Given the description of an element on the screen output the (x, y) to click on. 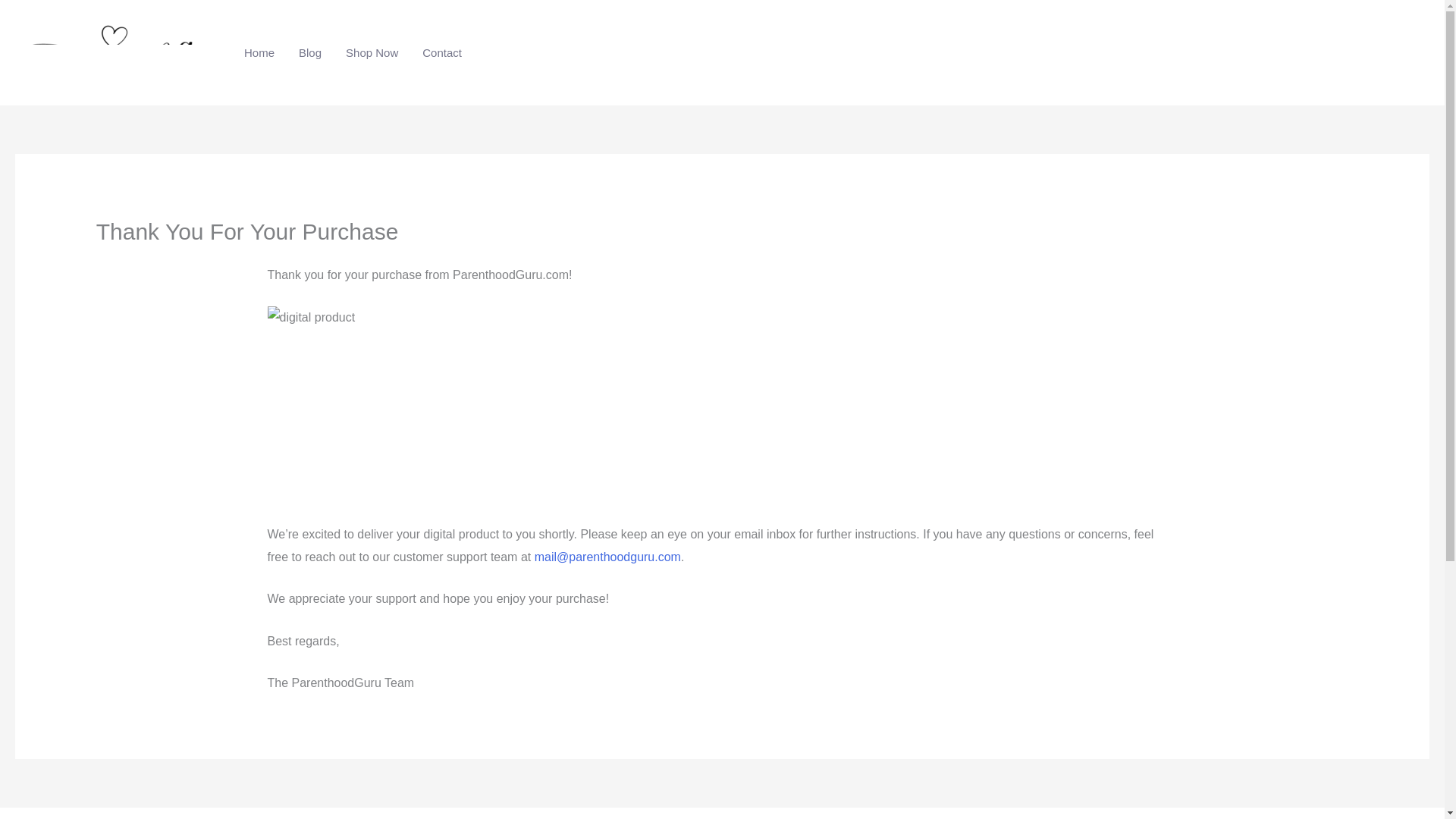
Contact (442, 51)
Home (258, 51)
thanks digital product (443, 405)
Shop Now (371, 51)
